Given the description of an element on the screen output the (x, y) to click on. 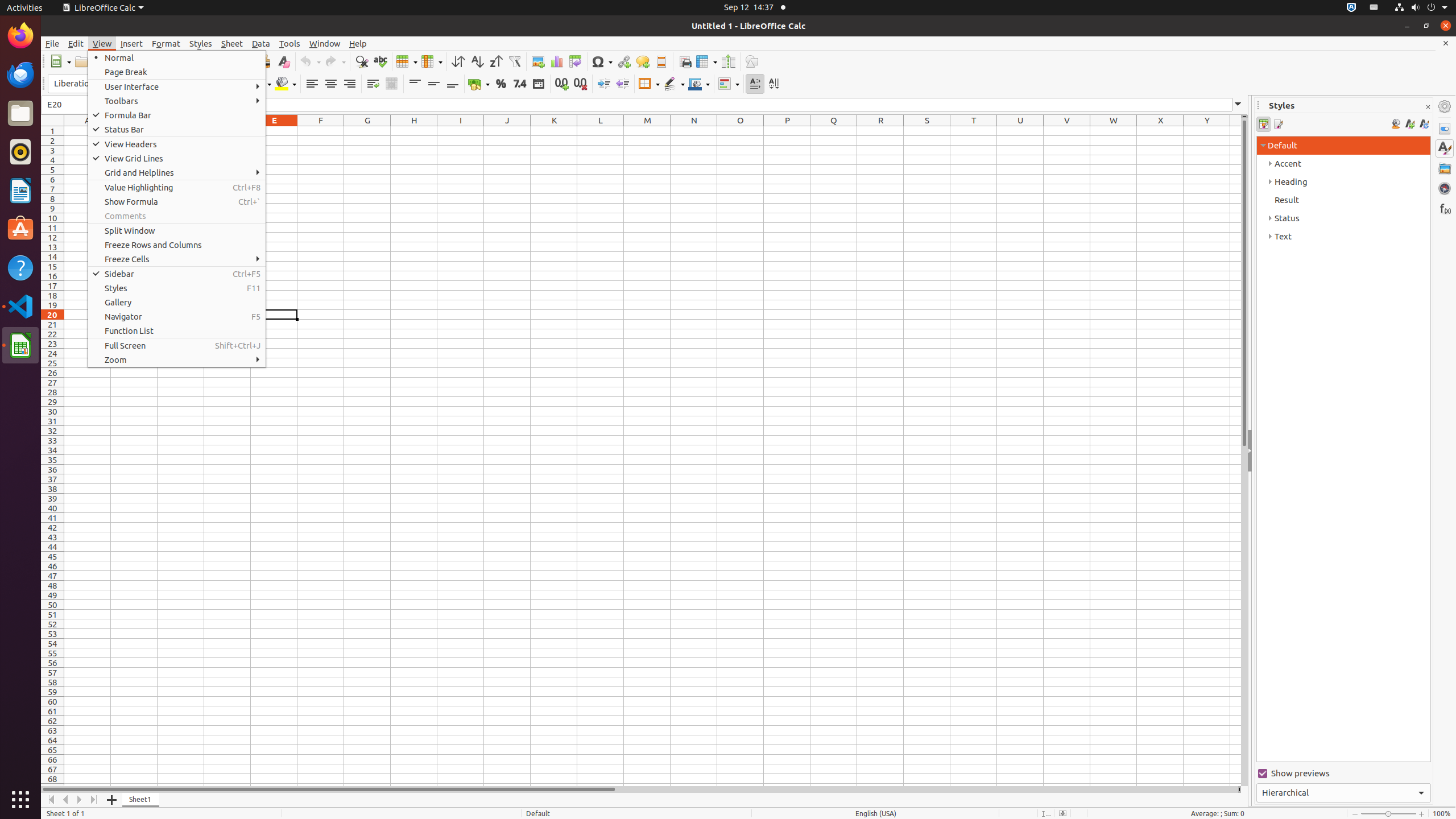
U1 Element type: table-cell (1020, 130)
E1 Element type: table-cell (273, 130)
Update Style Element type: push-button (1423, 123)
Border Color Element type: push-button (698, 83)
Move Left Element type: push-button (65, 799)
